Given the description of an element on the screen output the (x, y) to click on. 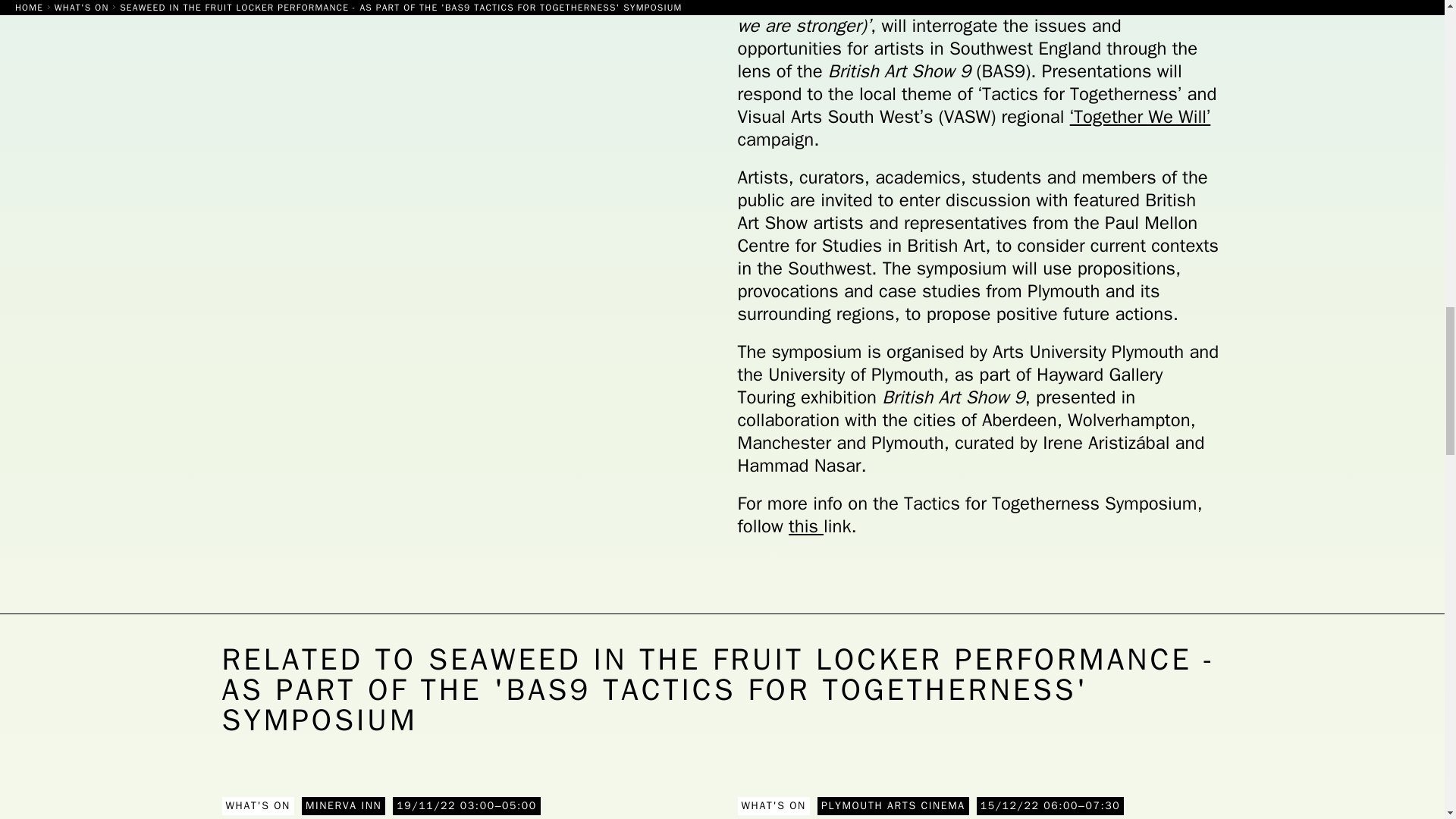
Rhys Morgan - Seaweed in the Fruit Locker Performance (463, 807)
this (806, 526)
